Given the description of an element on the screen output the (x, y) to click on. 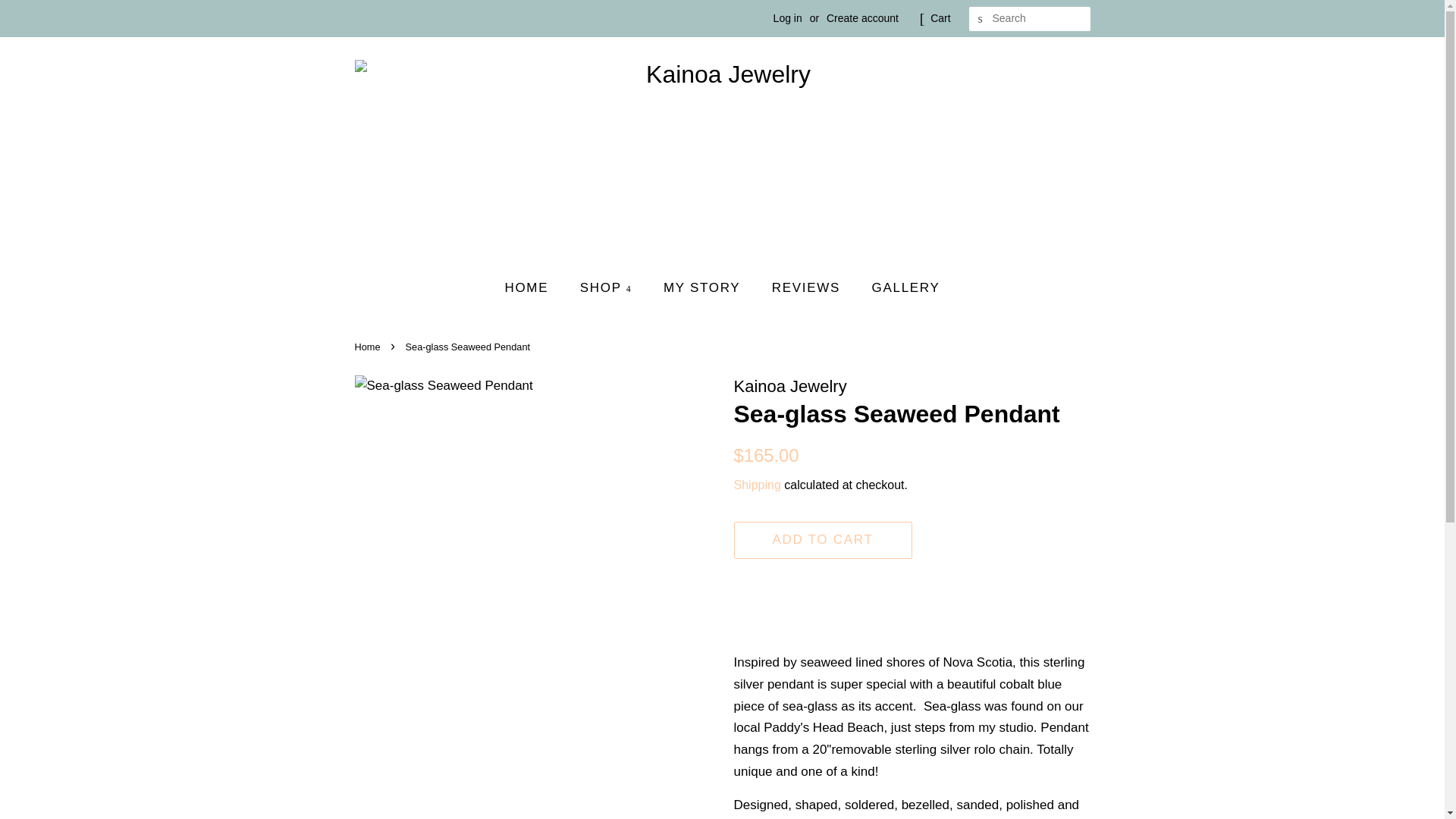
Log in (787, 18)
SEARCH (980, 18)
Create account (862, 18)
Back to the frontpage (369, 346)
Shipping (756, 484)
Home (369, 346)
Cart (940, 18)
SHOP (608, 287)
ADD TO CART (822, 539)
HOME (533, 287)
